Given the description of an element on the screen output the (x, y) to click on. 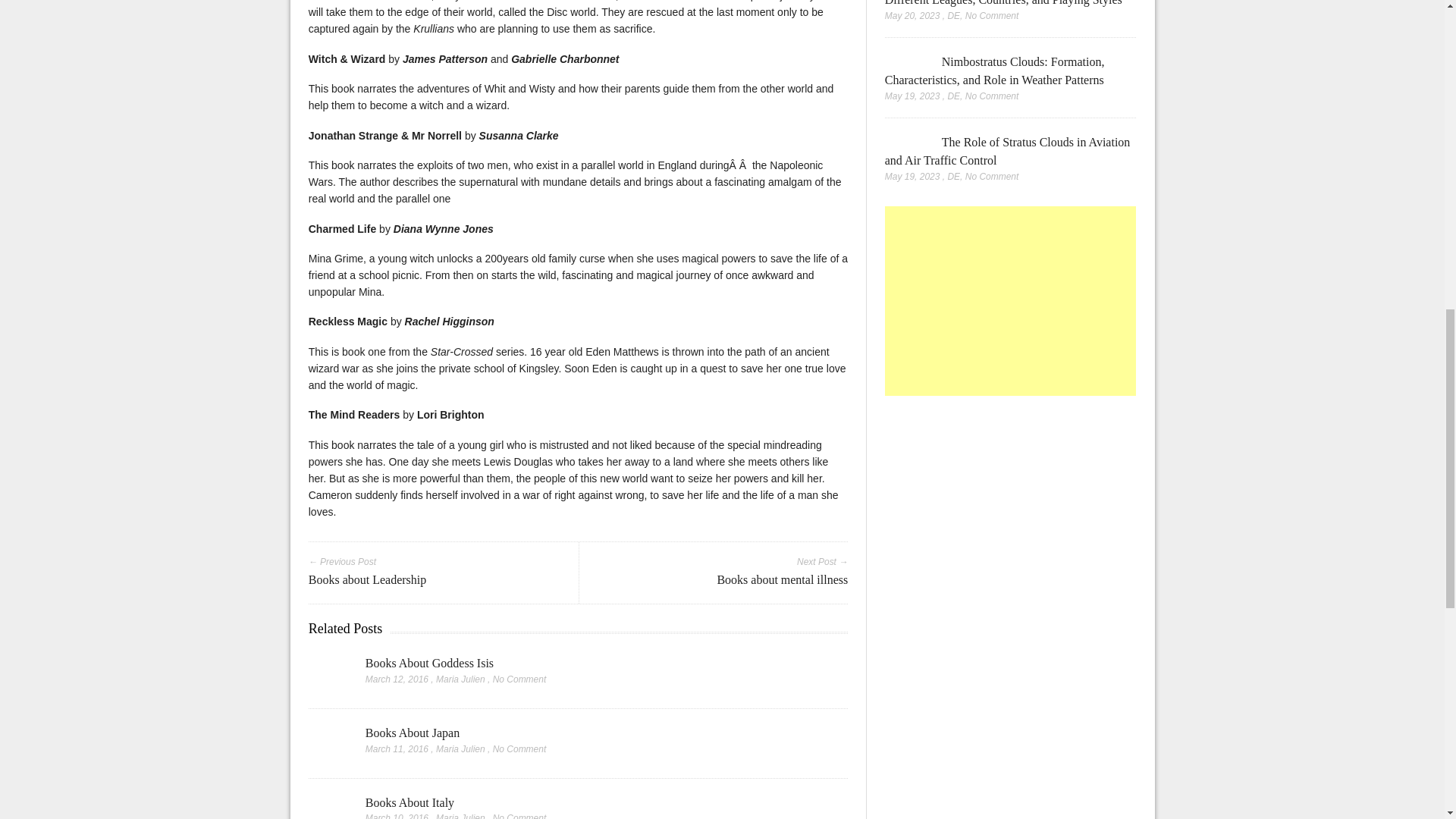
No Comment (520, 816)
Books About Japan (412, 732)
Maria Julien (459, 748)
Maria Julien (459, 679)
Posts by Maria Julien (459, 816)
Books About Goddess Isis (429, 662)
No Comment (520, 679)
Posts by Maria Julien (459, 748)
Books About Japan (329, 744)
Books About Goddess Isis (329, 675)
